Given the description of an element on the screen output the (x, y) to click on. 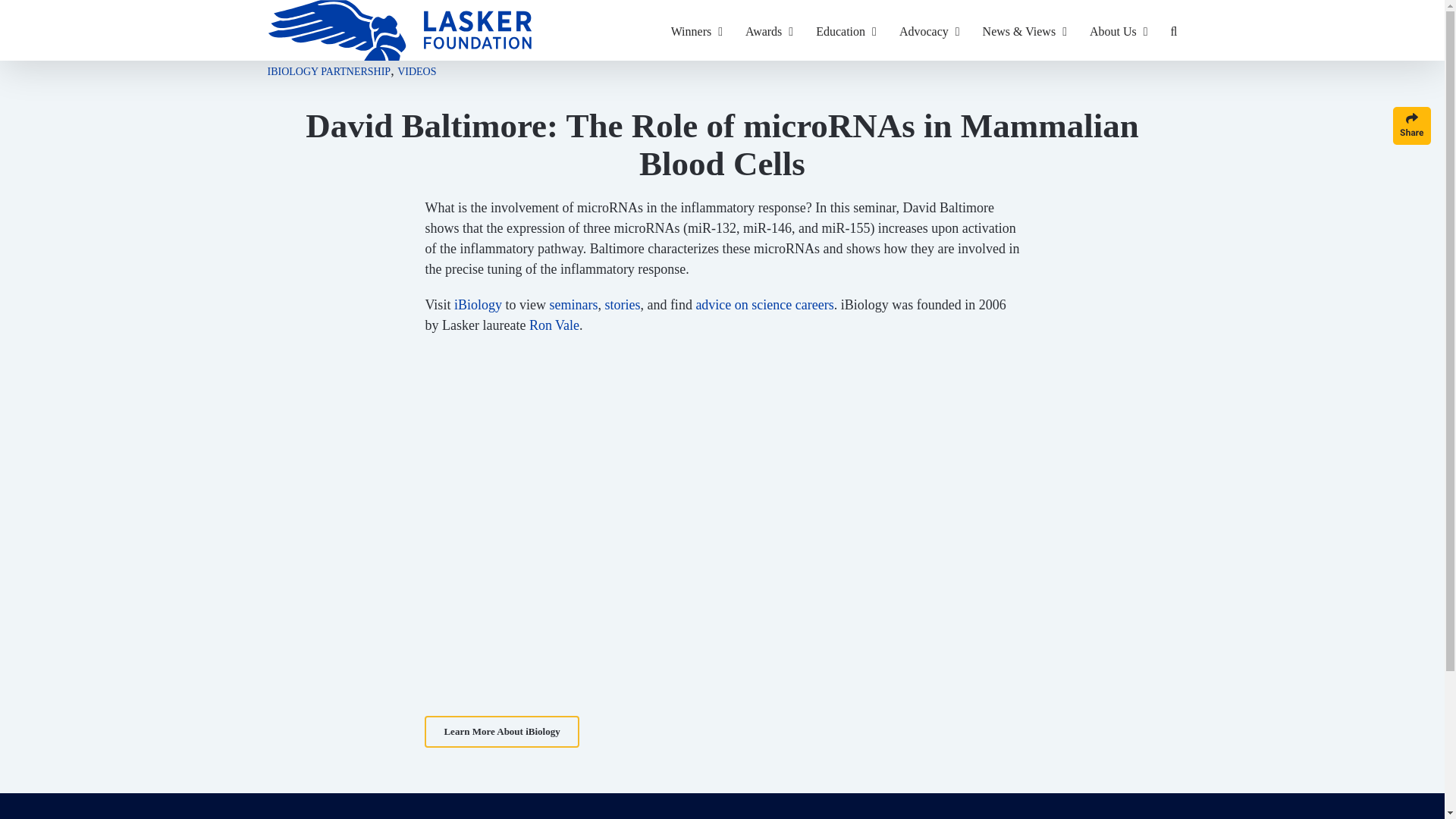
Education (845, 30)
About Us (1118, 30)
Advocacy (929, 30)
